Given the description of an element on the screen output the (x, y) to click on. 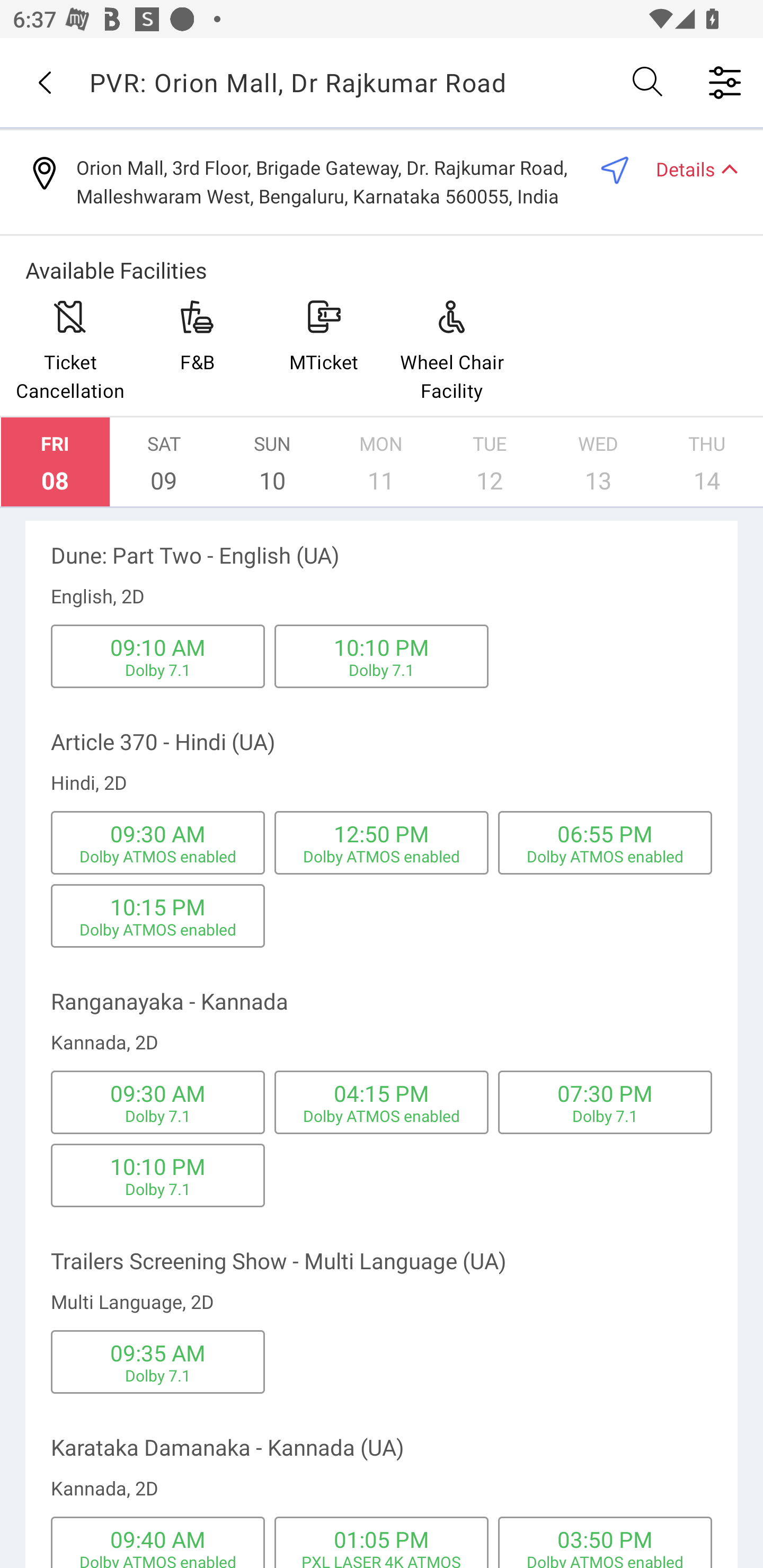
Navigate up (44, 82)
Search (648, 81)
Filter (724, 81)
Details (688, 168)
SAT 09 MAR (163, 461)
SUN 10 MAR (272, 461)
MON 11 MAR (380, 461)
TUE 12 MAR (489, 461)
WED 13 MAR (598, 461)
THU 14 MAR (707, 461)
09:10 AM (157, 646)
10:10 PM (381, 646)
Dolby 7.1 (157, 669)
Dolby 7.1 (381, 669)
09:30 AM (157, 833)
12:50 PM (381, 833)
06:55 PM (605, 833)
Dolby ATMOS enabled (157, 856)
Dolby ATMOS enabled (381, 856)
Dolby ATMOS enabled (604, 856)
10:15 PM (157, 906)
Dolby ATMOS enabled (157, 929)
09:30 AM (157, 1093)
04:15 PM (381, 1093)
07:30 PM (605, 1093)
Dolby 7.1 (157, 1116)
Dolby ATMOS enabled (381, 1116)
Dolby 7.1 (604, 1116)
10:10 PM (157, 1165)
Dolby 7.1 (157, 1188)
09:35 AM (157, 1352)
Dolby 7.1 (157, 1375)
09:40 AM (157, 1538)
01:05 PM (381, 1538)
03:50 PM (605, 1538)
Dolby ATMOS enabled (157, 1559)
PXL LASER 4K ATMOS (380, 1559)
Dolby ATMOS enabled (604, 1559)
